Given the description of an element on the screen output the (x, y) to click on. 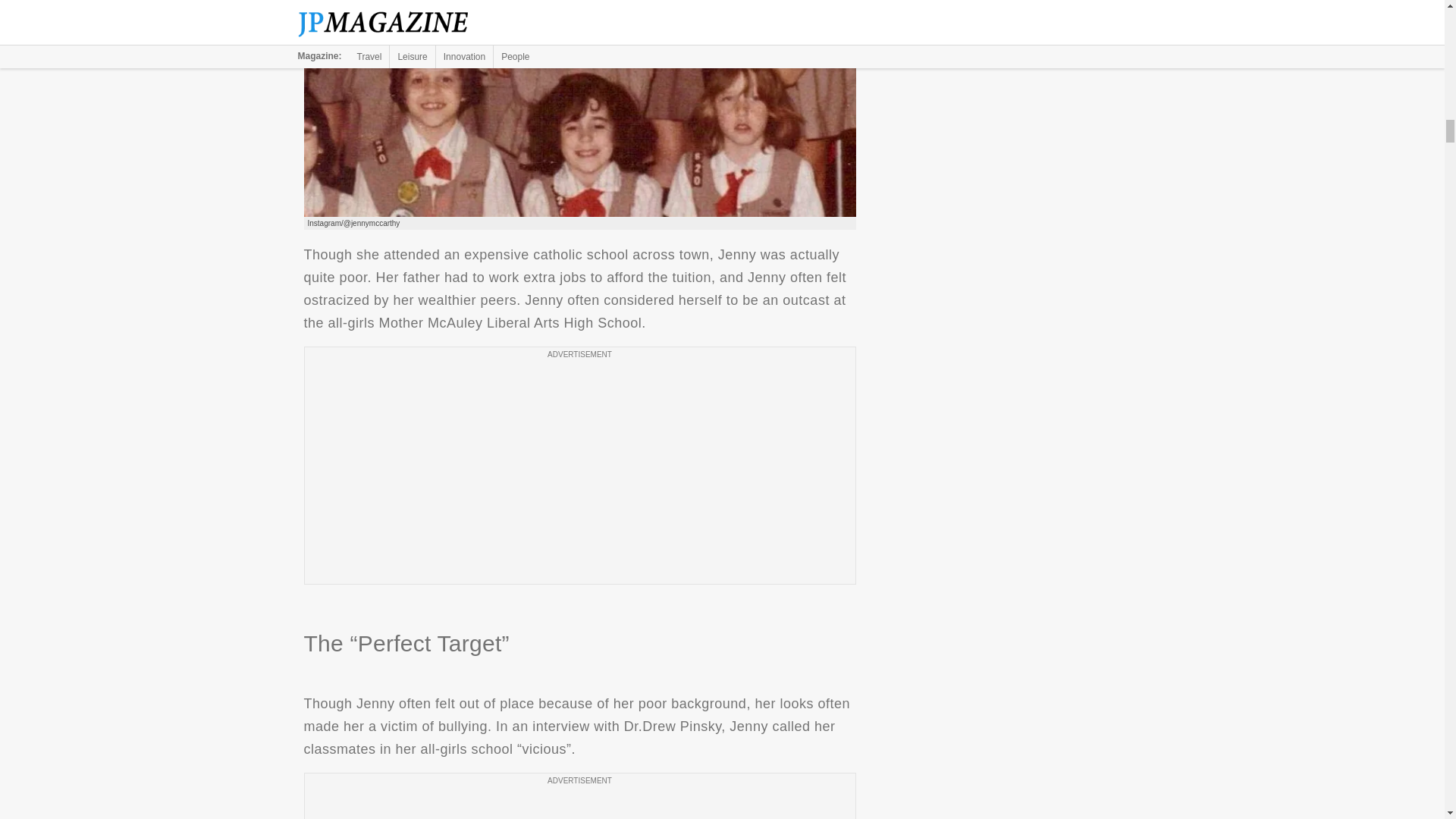
High School Highs and Lows (579, 108)
